Given the description of an element on the screen output the (x, y) to click on. 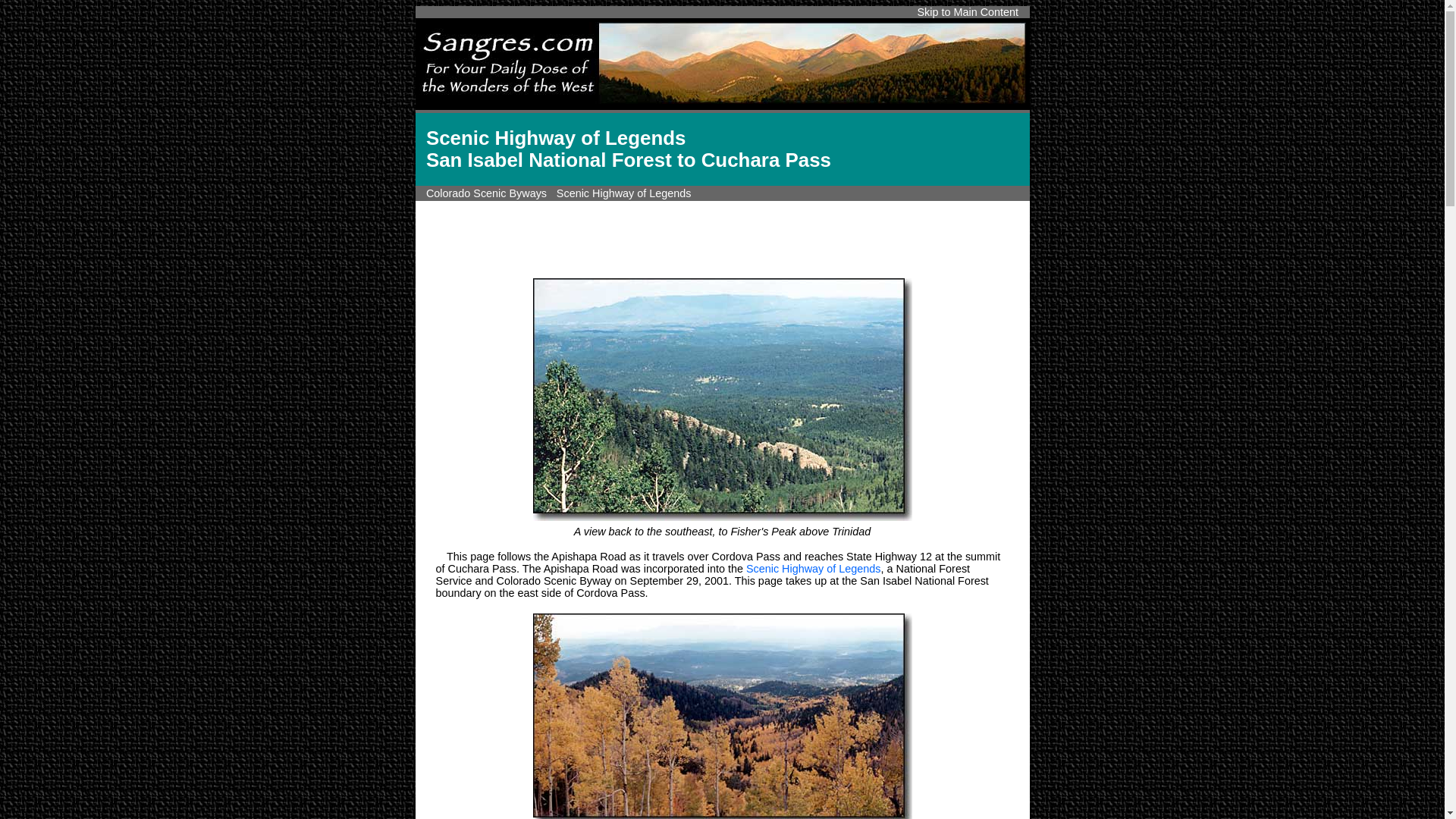
Scenic Highway of Legends (623, 193)
Colorado Scenic Byways (486, 193)
Fisher's Peak in the distance (722, 399)
Advertisement (721, 236)
Scenic Highway of Legends (812, 568)
Scenic Byways in Colorado (486, 193)
Fall colors (722, 714)
Scenic Highway of legends (812, 568)
Scenic Highway of Legends (623, 193)
Skip to Main Content (968, 11)
